Given the description of an element on the screen output the (x, y) to click on. 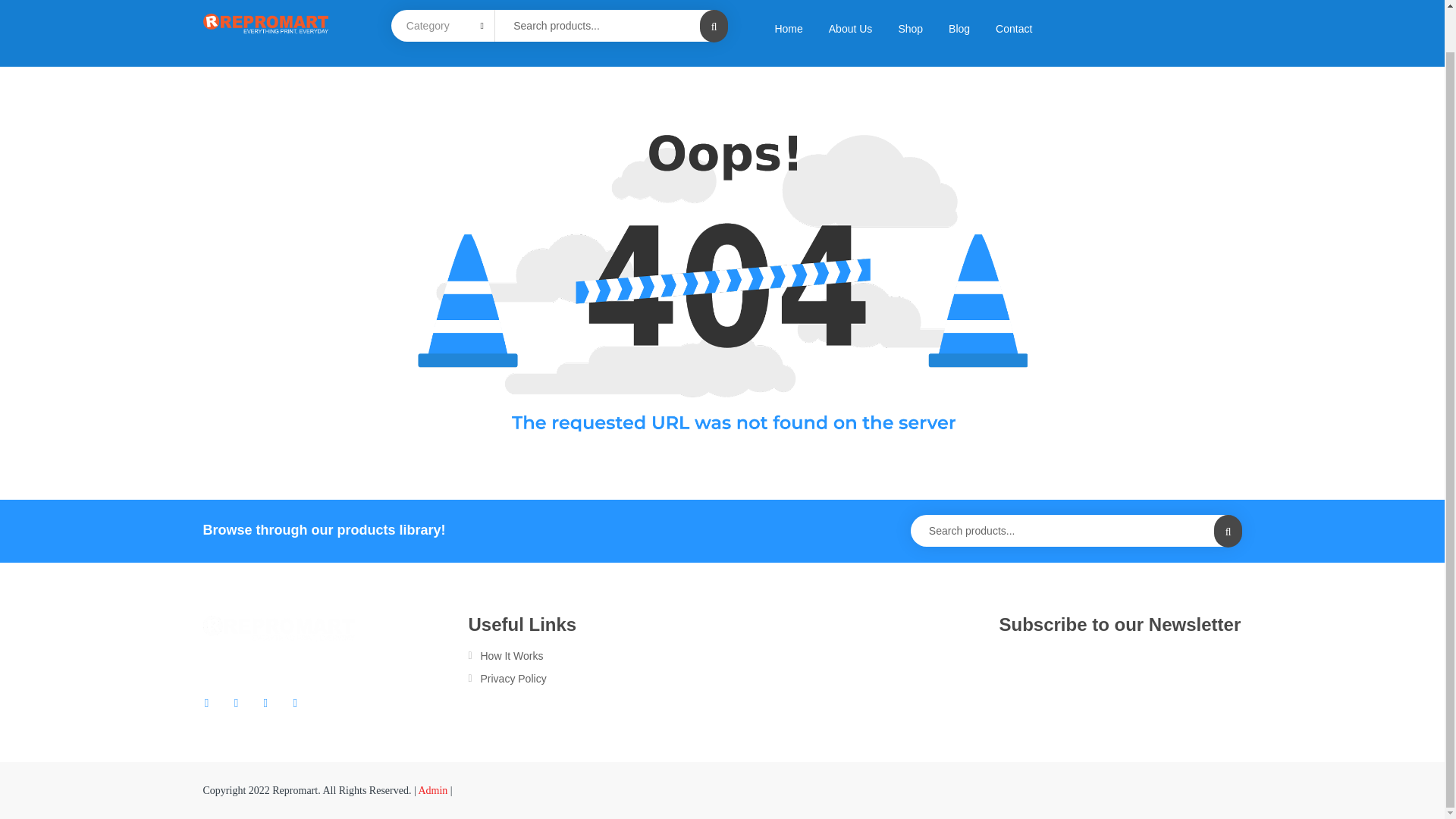
Home (788, 28)
Register (780, 520)
About Us (850, 28)
How It Works (593, 655)
Blog (959, 28)
Privacy Policy (593, 678)
Shop (910, 28)
Log in (445, 459)
Admin (431, 790)
Contact (1013, 28)
